Given the description of an element on the screen output the (x, y) to click on. 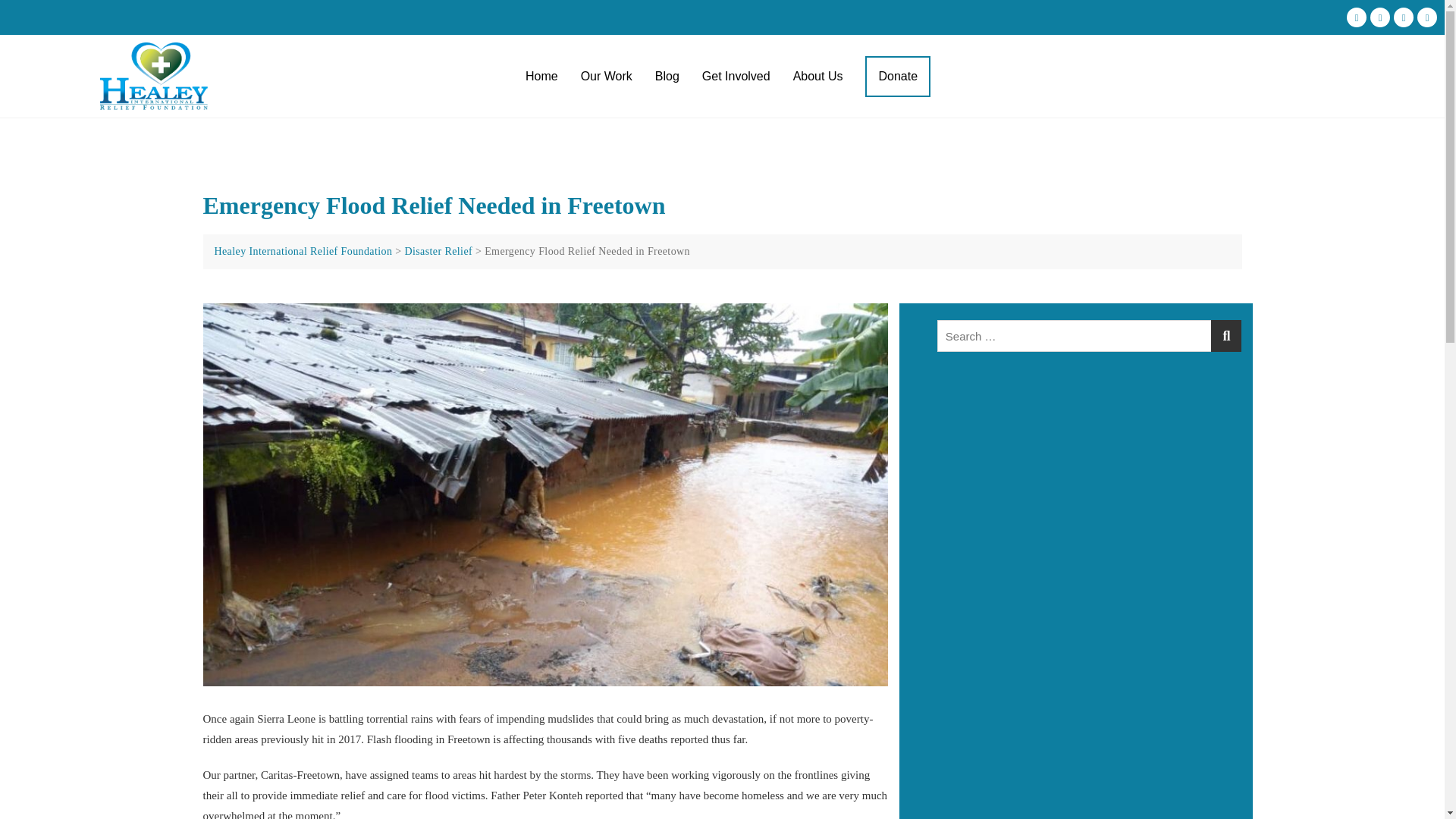
Our Work (606, 76)
Blog (666, 76)
Disaster Relief (437, 251)
Healey International Relief Foundation (302, 251)
About Us (817, 76)
Go to the Disaster Relief Category archives. (437, 251)
Get Involved (735, 76)
Home (541, 76)
Go to Healey International Relief Foundation. (302, 251)
Search (152, 6)
